Given the description of an element on the screen output the (x, y) to click on. 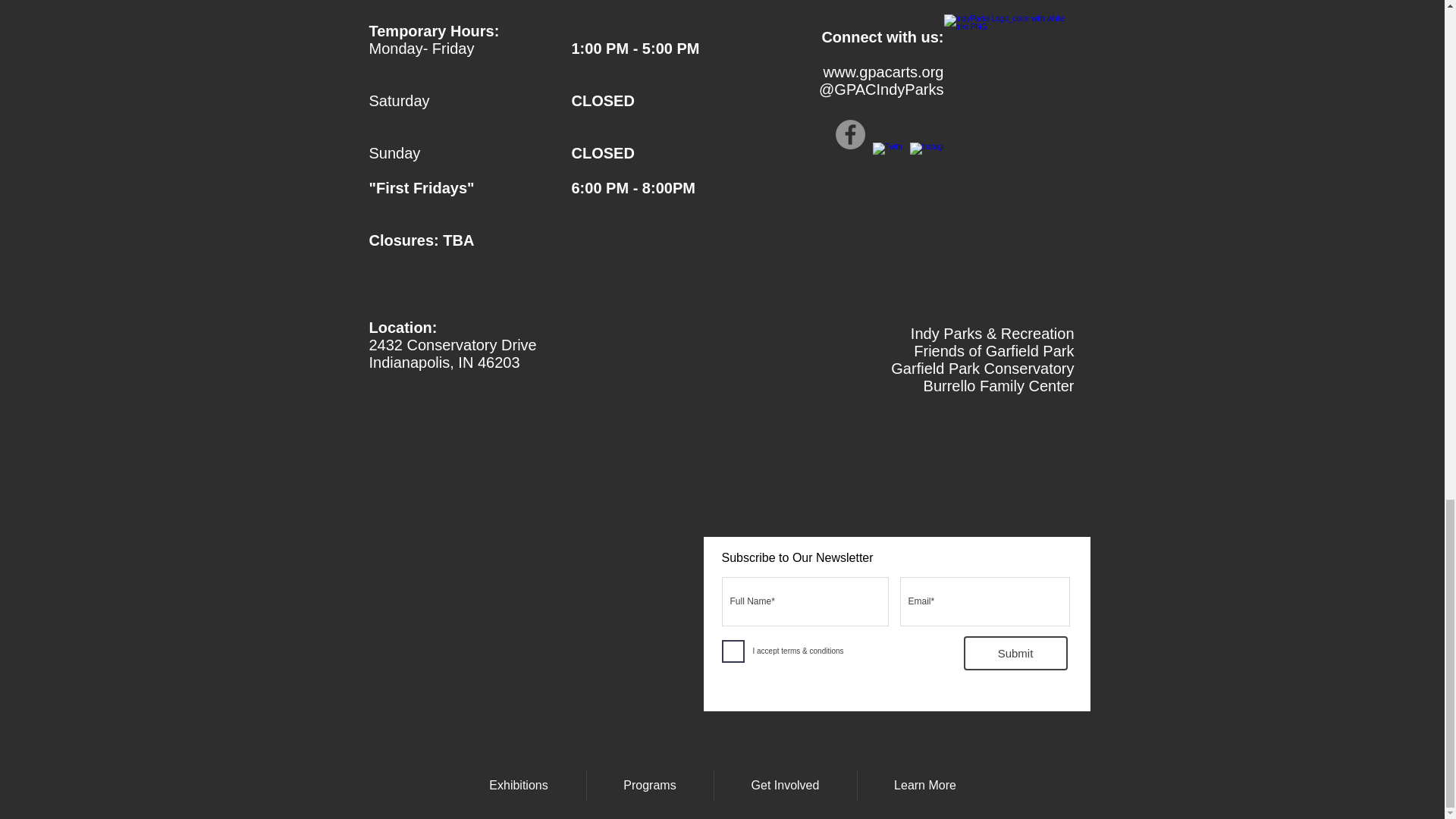
www.gpacarts.org (883, 71)
Submit (1014, 653)
Burrello Family Center (998, 385)
Friends of Garfield Park (994, 351)
Garfield Park Conservatory (982, 368)
